Given the description of an element on the screen output the (x, y) to click on. 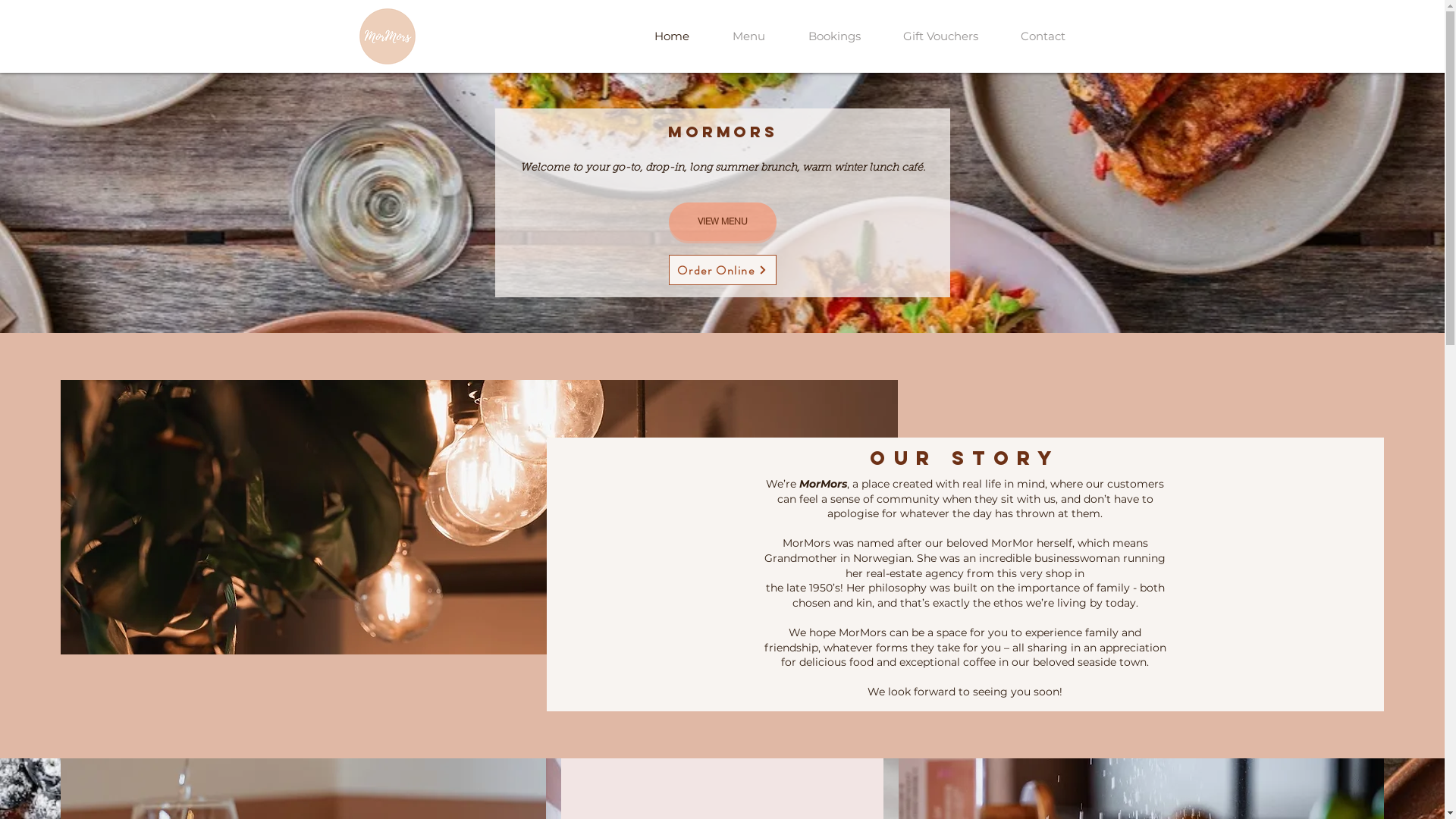
Bookings Element type: text (834, 36)
Gift Vouchers Element type: text (939, 36)
VIEW MENU Element type: text (722, 221)
Home Element type: text (671, 36)
Menu Element type: text (749, 36)
Order Online Element type: text (722, 269)
Contact Element type: text (1042, 36)
